Given the description of an element on the screen output the (x, y) to click on. 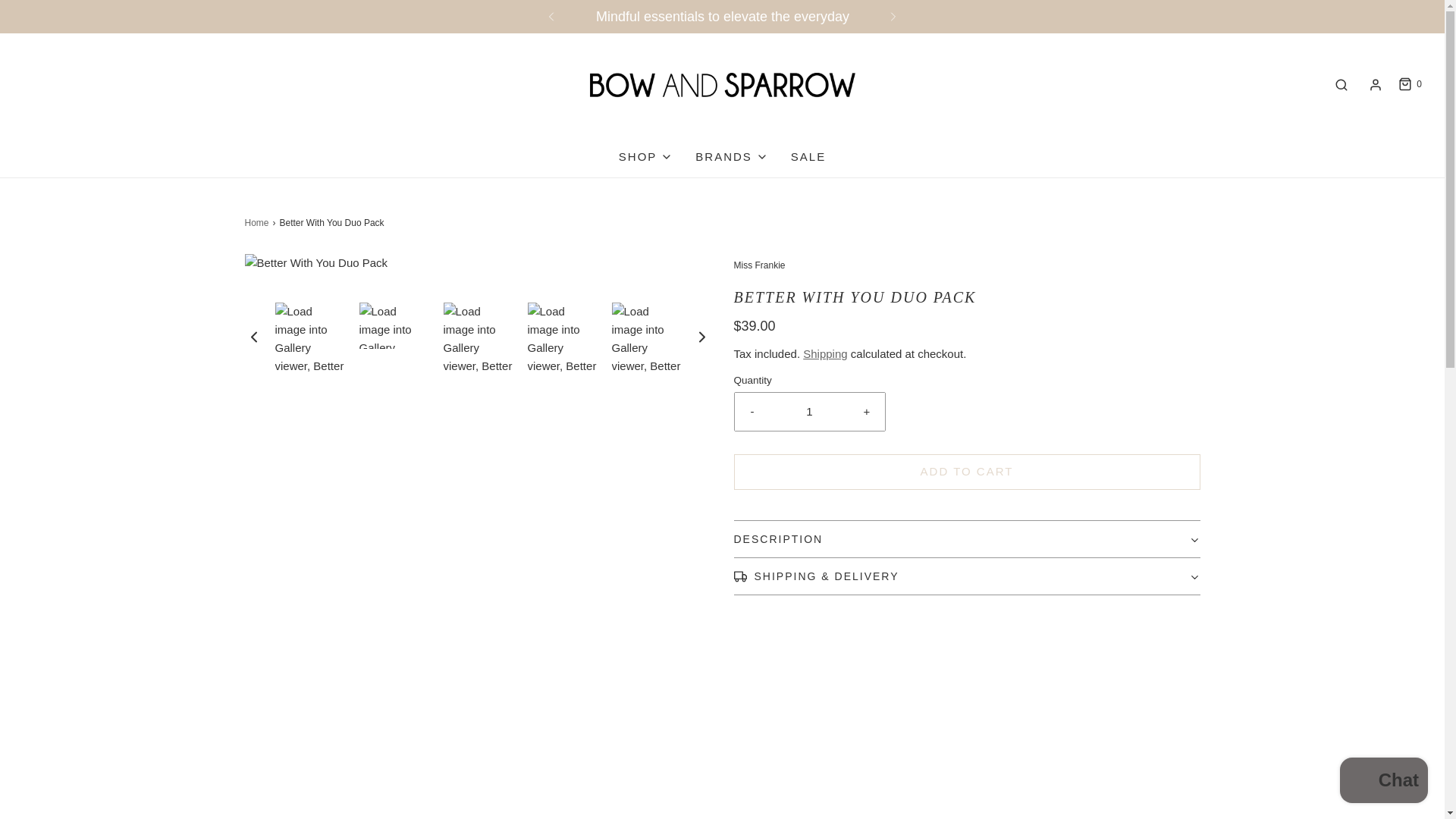
Search (1341, 84)
Back to the frontpage (258, 223)
Cart (1409, 83)
1 (809, 411)
Log in (1375, 84)
